Given the description of an element on the screen output the (x, y) to click on. 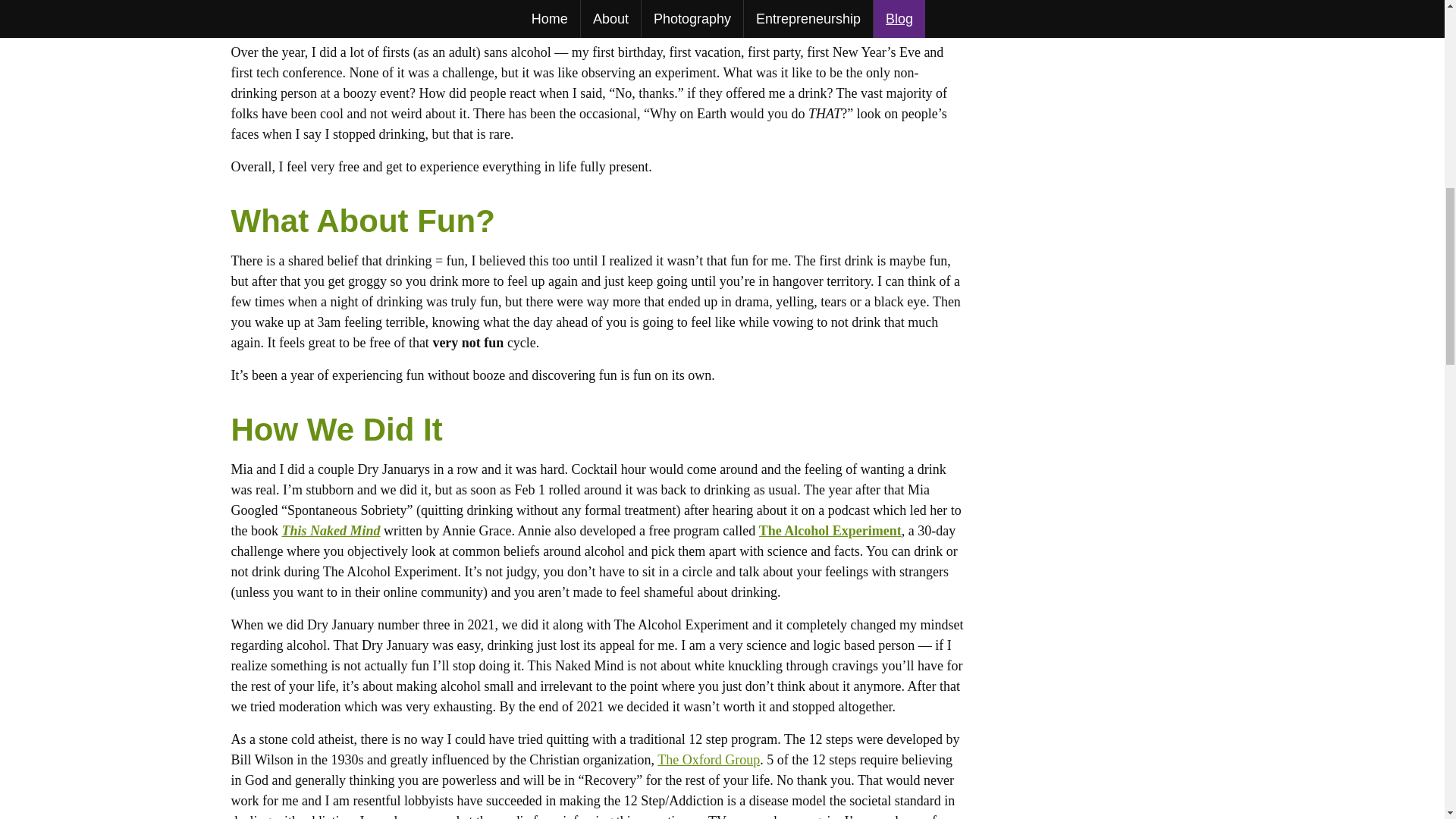
This Naked Mind (331, 530)
The Oxford Group (709, 759)
The Alcohol Experiment (829, 530)
